Given the description of an element on the screen output the (x, y) to click on. 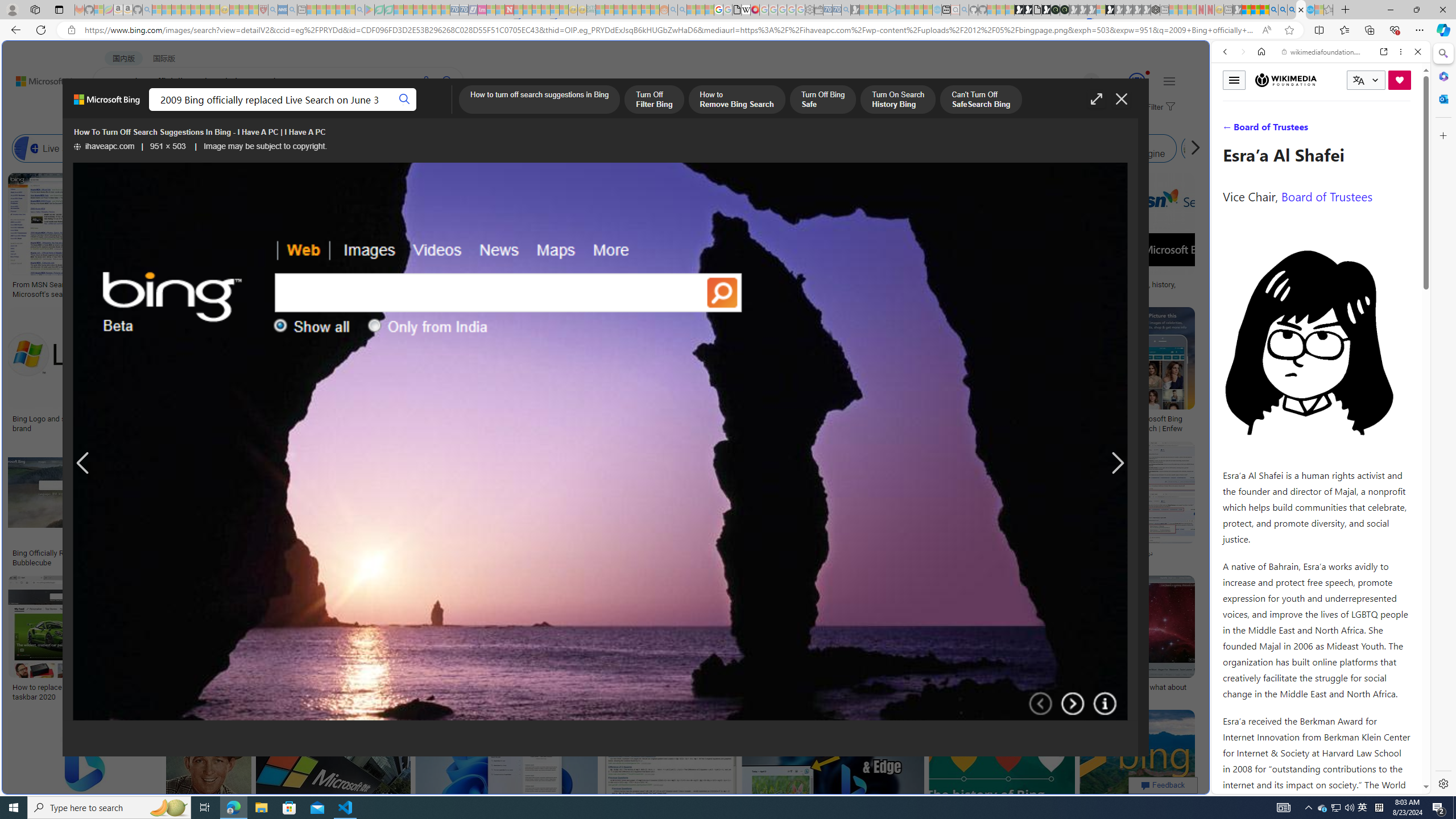
How to turn off search suggestions in Bing (539, 100)
ACADEMIC (360, 111)
Microsoft Rewards 84 (1125, 81)
Microsoft Bing, Back to Bing search (106, 104)
Bing Logo and symbol, meaning, history, PNG, brand (97, 423)
